Given the description of an element on the screen output the (x, y) to click on. 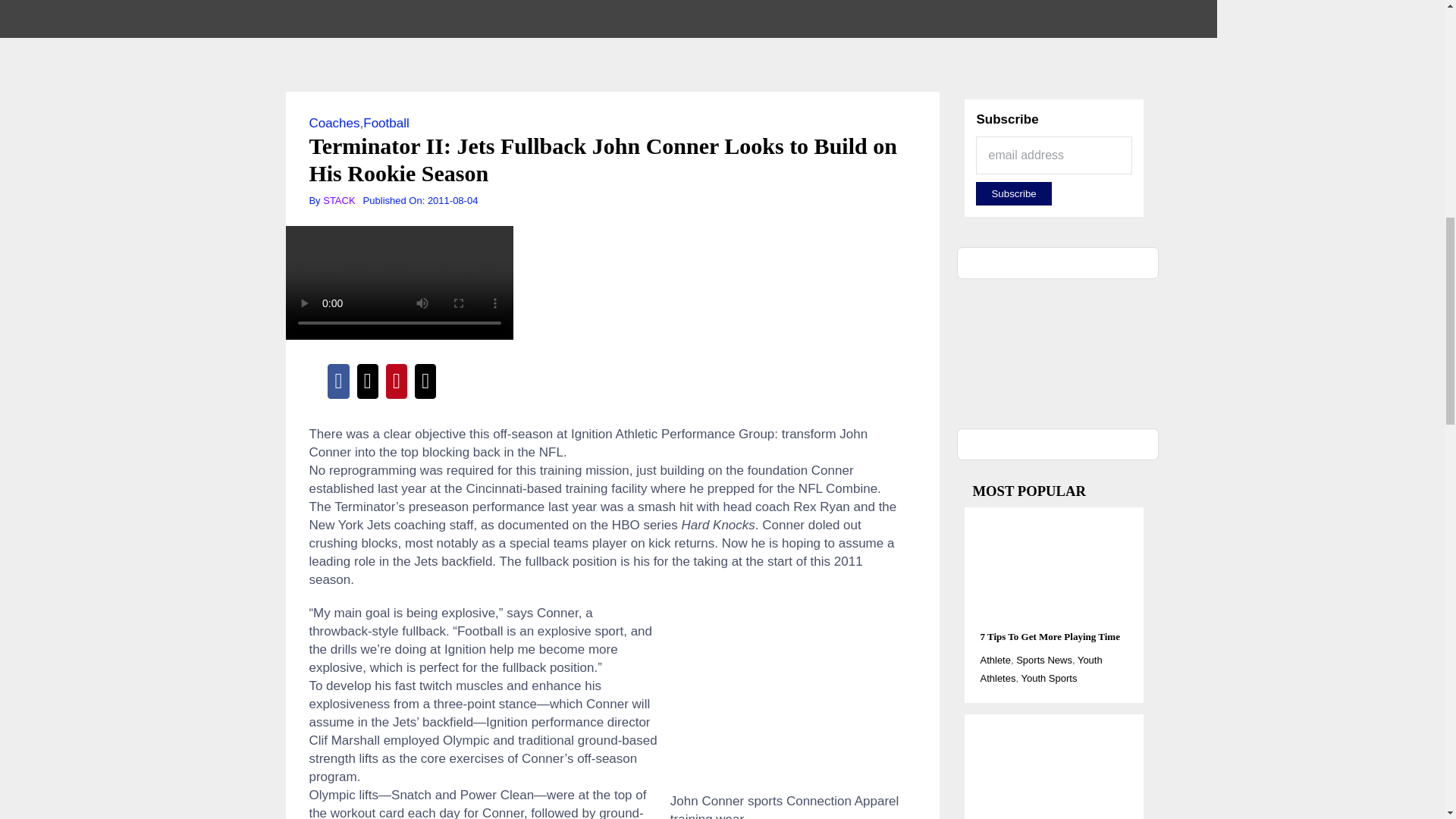
Football (385, 123)
Posts by STACK (339, 200)
Coaches (333, 123)
Subscribe (1013, 193)
